Given the description of an element on the screen output the (x, y) to click on. 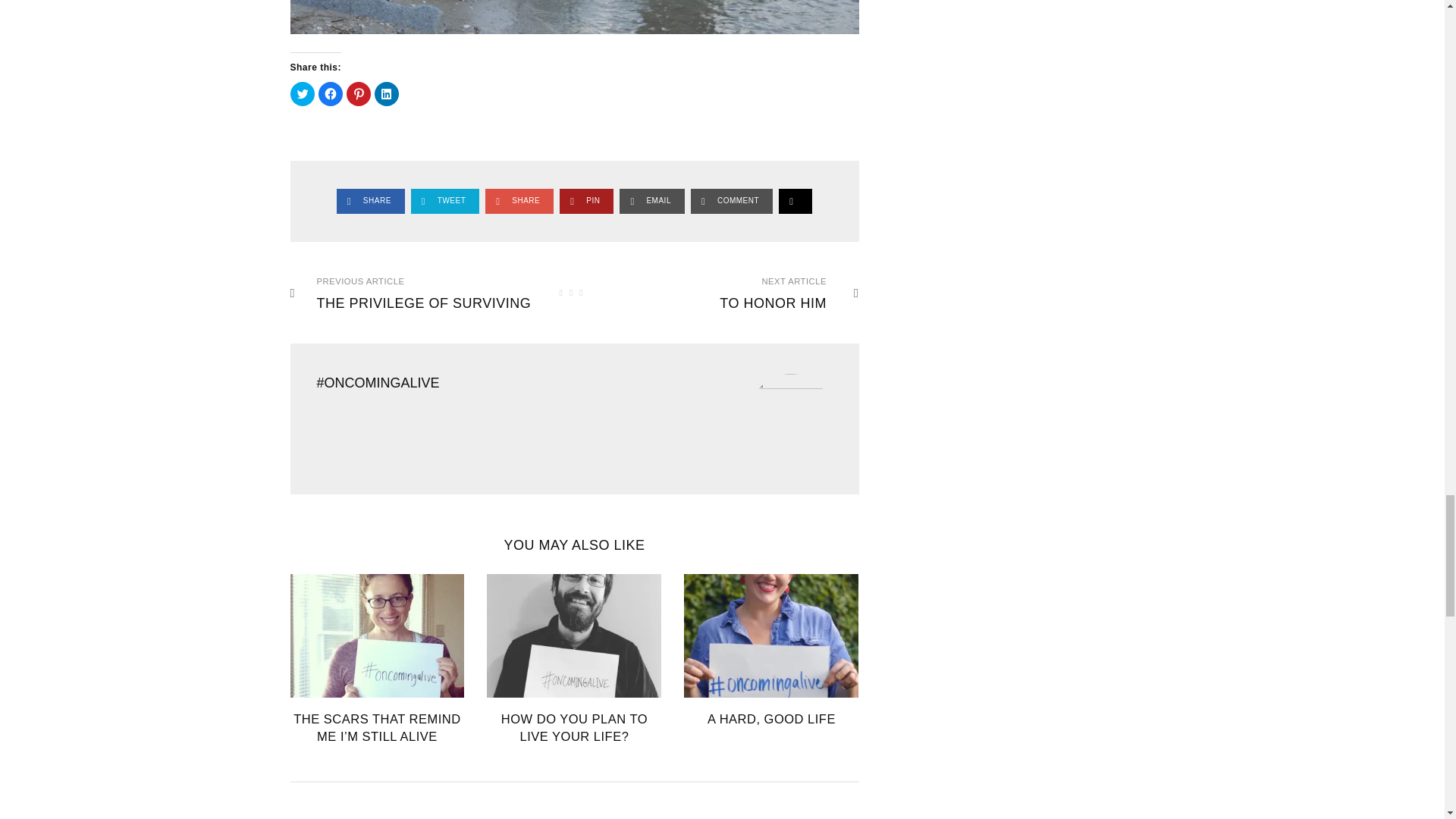
Click to share on Pinterest (357, 93)
Click to share on LinkedIn (386, 93)
Click to share on Twitter (301, 93)
Click to share on Facebook (330, 93)
